Given the description of an element on the screen output the (x, y) to click on. 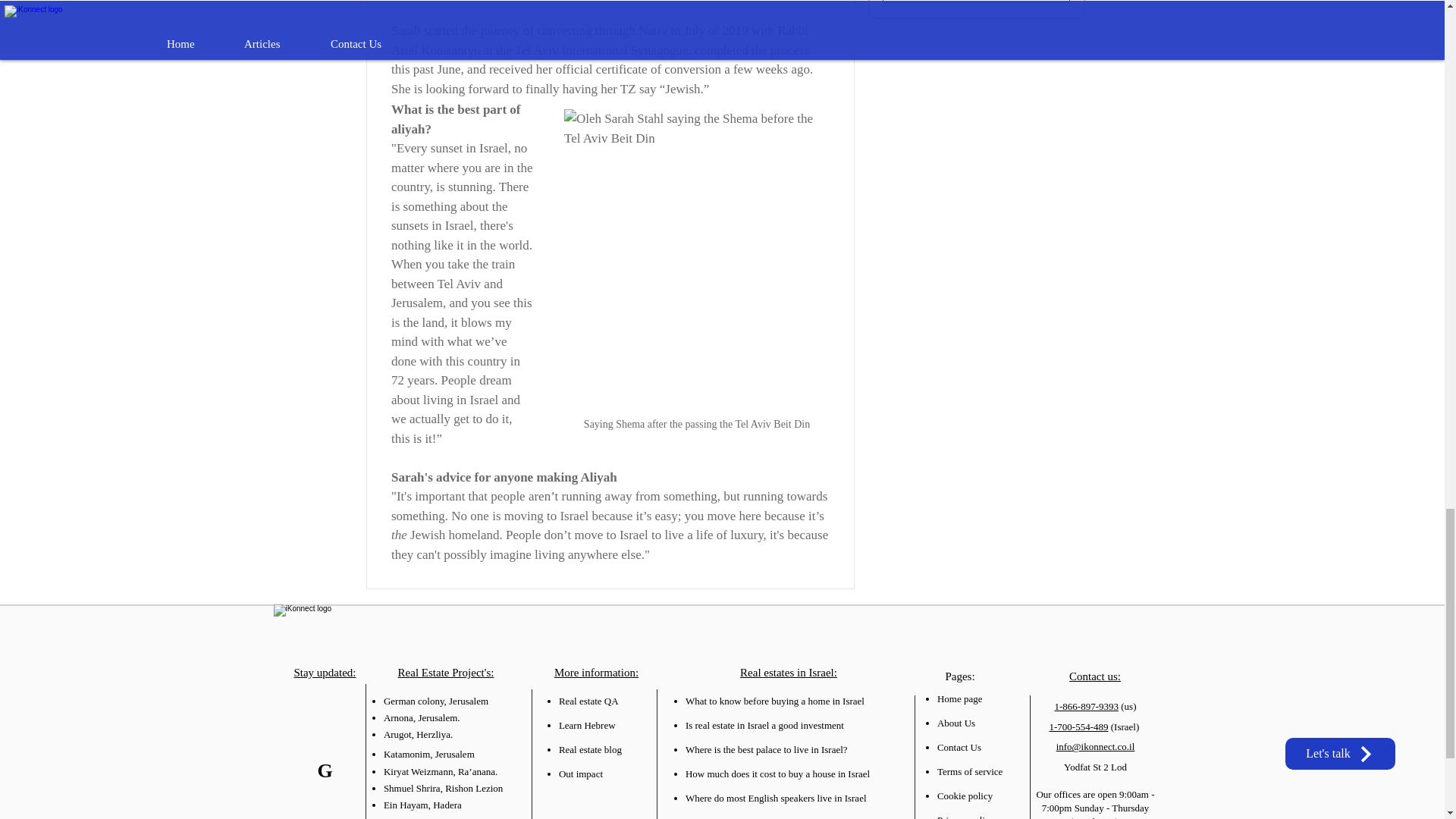
Real estate blog (590, 749)
Learn Hebrew (587, 725)
Ein Hayam, Hadera (422, 804)
Where do most English speakers live in Israel (775, 797)
How much does it cost to buy a house in Israel (777, 773)
Stay updated: (324, 672)
Is real estate in Israel a good investment (764, 725)
How expensive is it to live in Israel (755, 817)
Real estate QA (588, 700)
What to know before buying a home in Israel (774, 700)
